Given the description of an element on the screen output the (x, y) to click on. 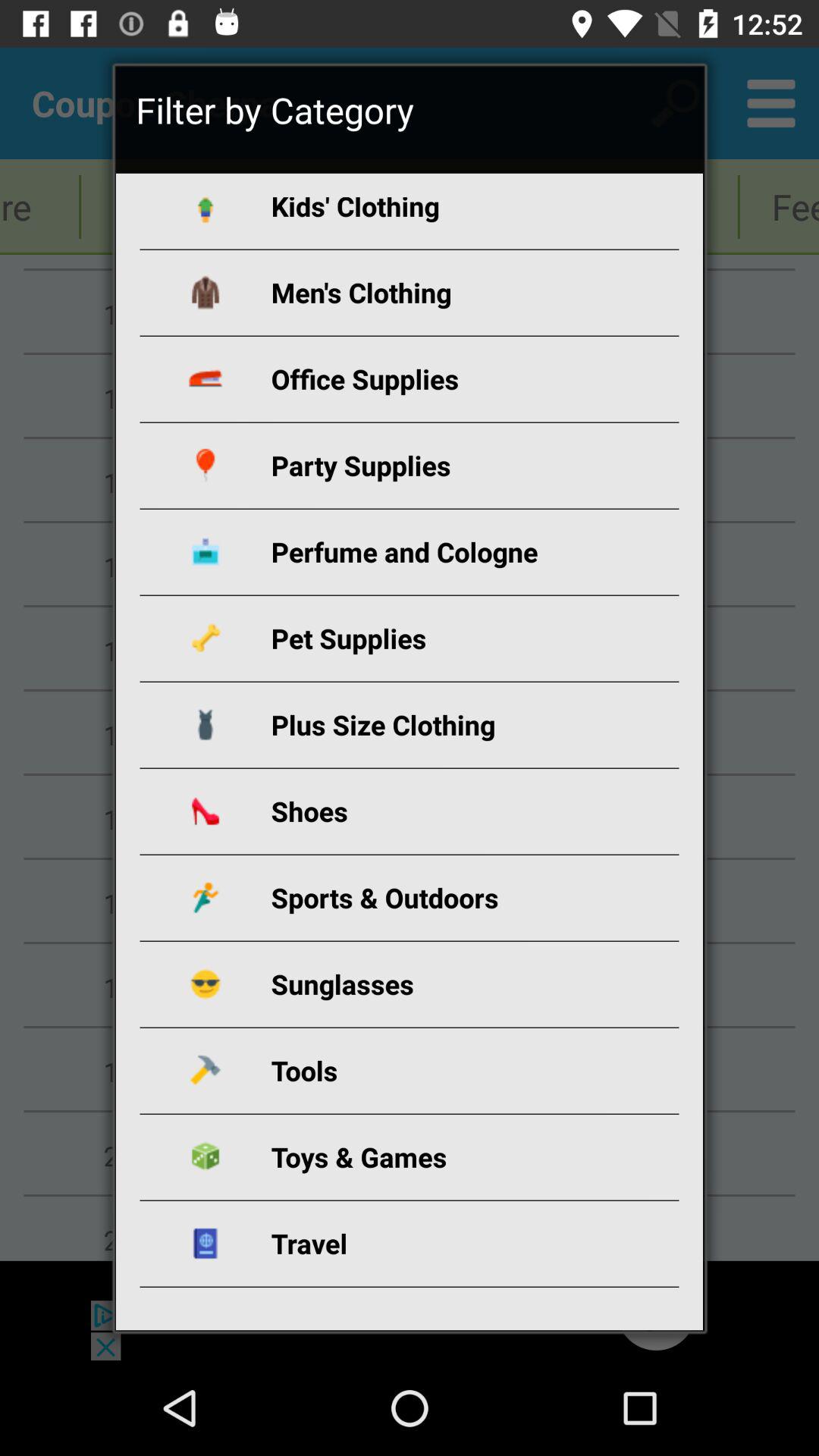
tap icon below the shoes app (427, 897)
